Given the description of an element on the screen output the (x, y) to click on. 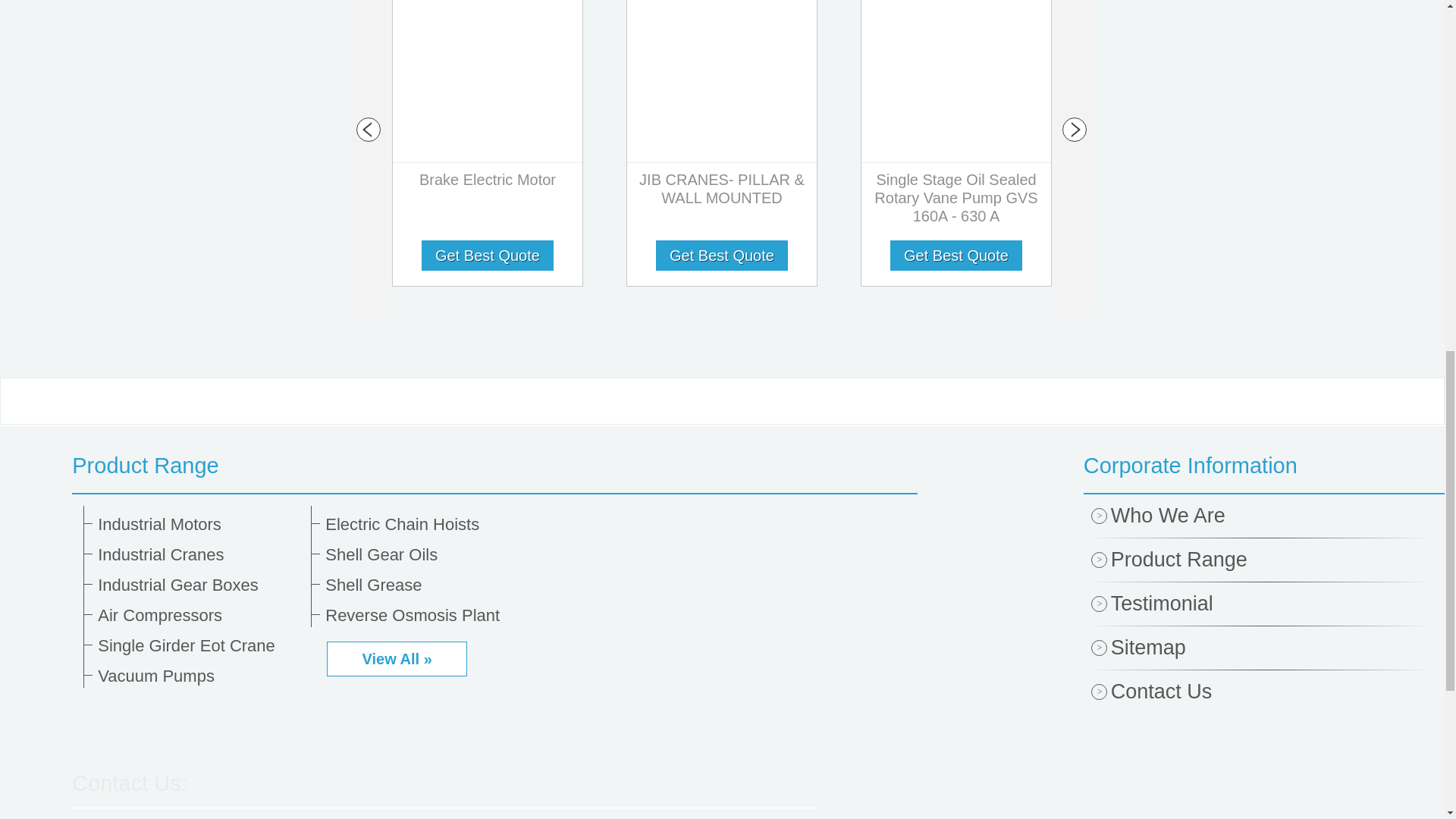
Reverse Osmosis Plant (426, 615)
Single Girder Eot Crane (198, 646)
Air Compressors (198, 615)
Electric Chain Hoists (426, 524)
Industrial Gear Boxes (198, 585)
Single Stage Oil Sealed Rotary Vane Pump GVS 160A - 630 A (956, 201)
Shell Gear Oils (426, 555)
Product Range (494, 465)
Industrial Cranes (198, 555)
Vacuum Pumps (198, 676)
Brake Electric Motor (487, 182)
Shell Grease (426, 585)
Industrial Motors (198, 524)
Contact Us: (129, 783)
